Given the description of an element on the screen output the (x, y) to click on. 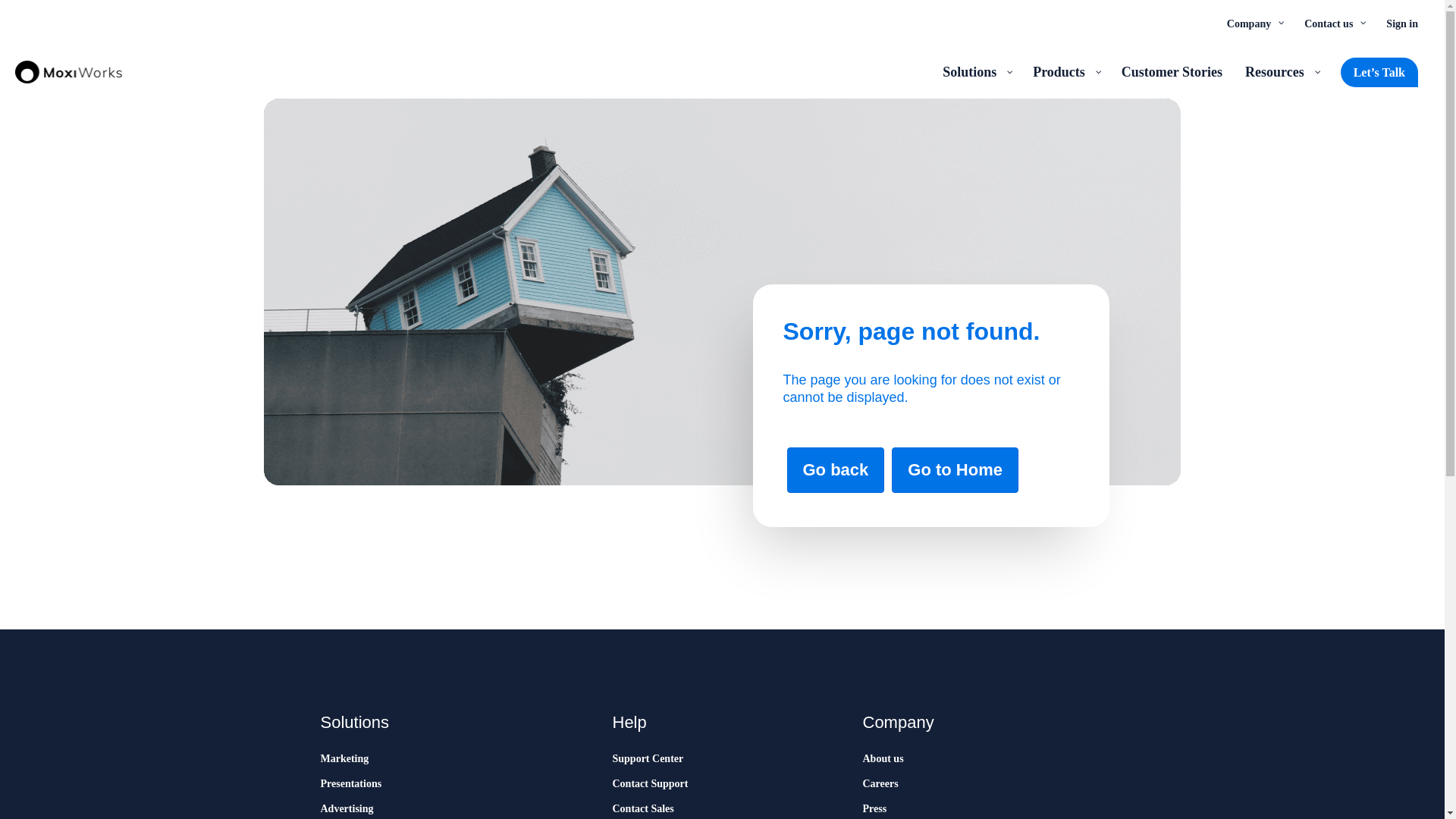
Products (1065, 72)
Company (1253, 22)
Solutions (976, 72)
Contact us (1333, 22)
Sign in (1401, 22)
